Given the description of an element on the screen output the (x, y) to click on. 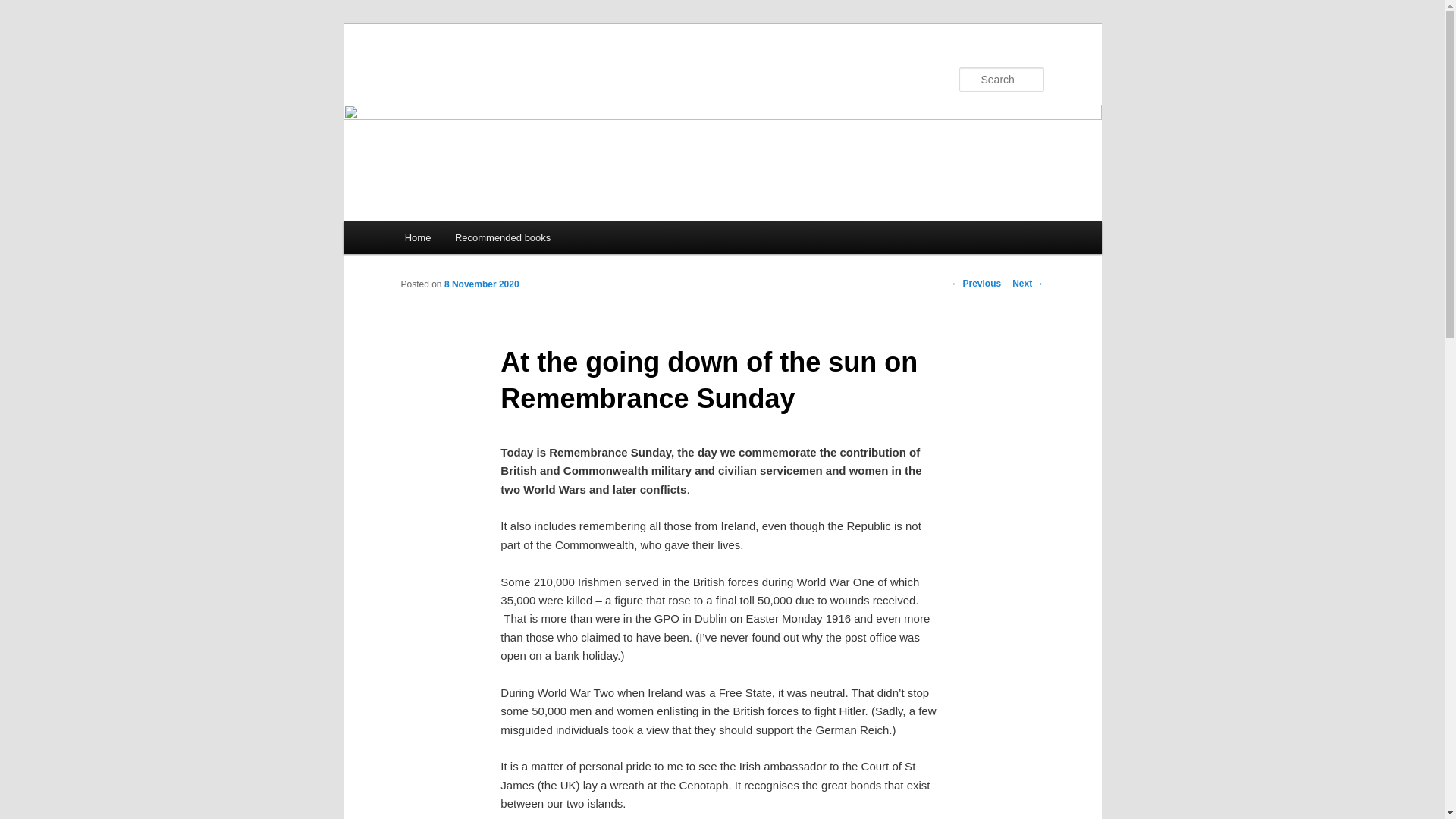
8 November 2020 (481, 284)
Home (417, 237)
Recommended books (502, 237)
Search (24, 8)
